Given the description of an element on the screen output the (x, y) to click on. 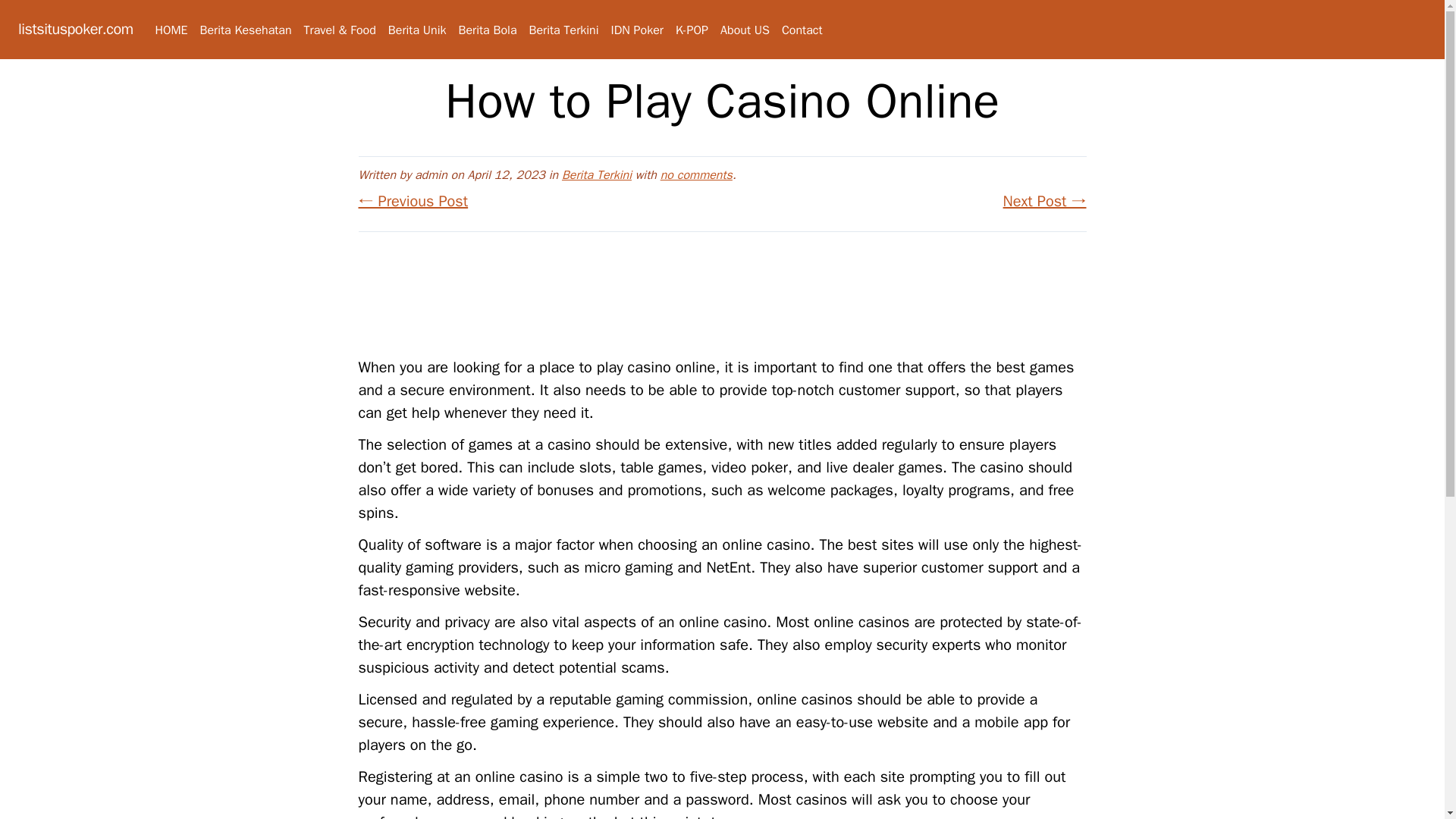
About US (745, 30)
IDN Poker (637, 30)
Berita Unik (417, 30)
Berita Bola (487, 30)
Berita Kesehatan (246, 30)
no comments (696, 174)
K-POP (691, 30)
Contact (801, 30)
Berita Terkini (596, 174)
no comments (696, 174)
listsituspoker.com (75, 29)
Berita Terkini (563, 30)
HOME (170, 30)
